Given the description of an element on the screen output the (x, y) to click on. 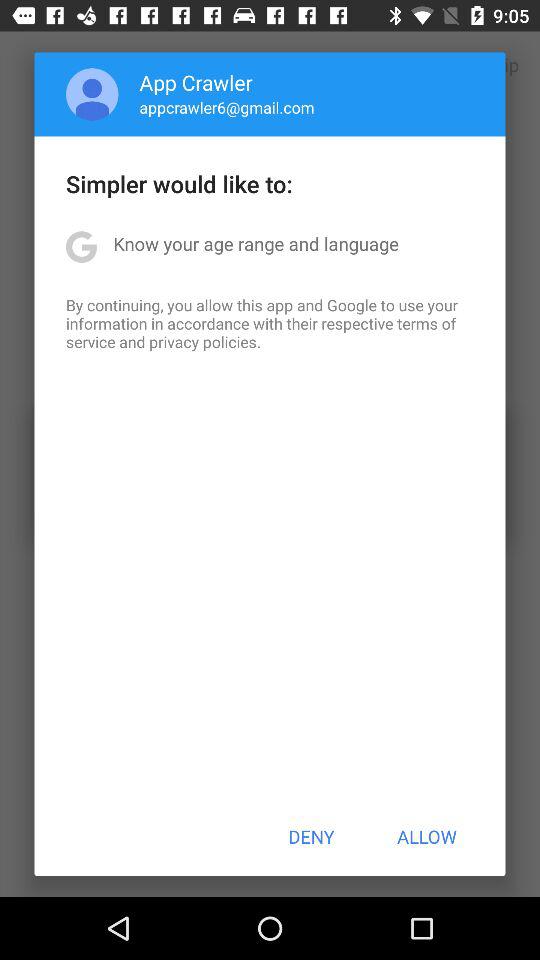
turn on the button next to the allow item (311, 836)
